Given the description of an element on the screen output the (x, y) to click on. 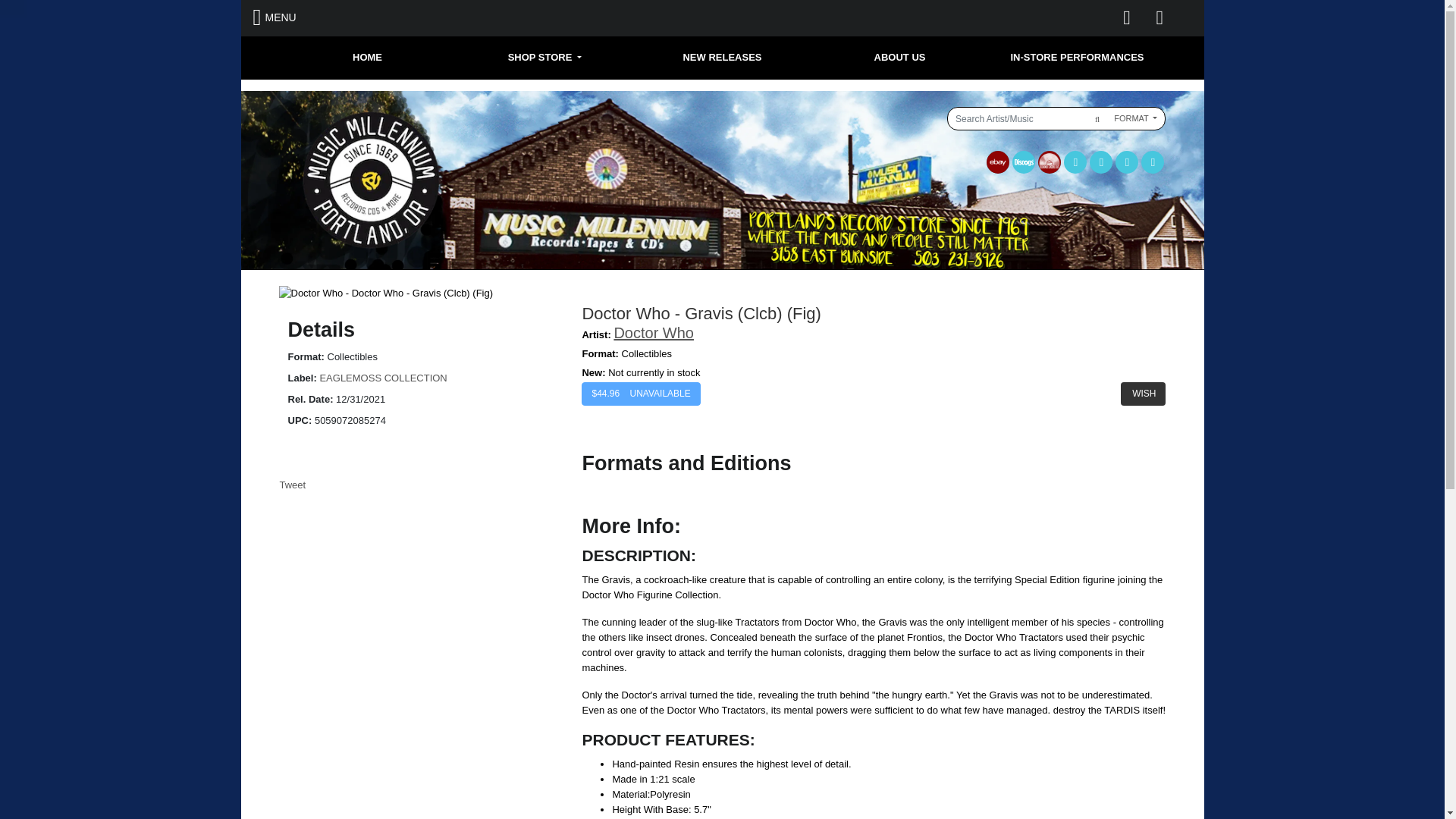
Search (1094, 118)
SHOP STORE (545, 57)
NEW RELEASES (721, 57)
MENU (274, 17)
IN-STORE PERFORMANCES (1077, 57)
ABOUT US (899, 57)
HOME (368, 57)
